Given the description of an element on the screen output the (x, y) to click on. 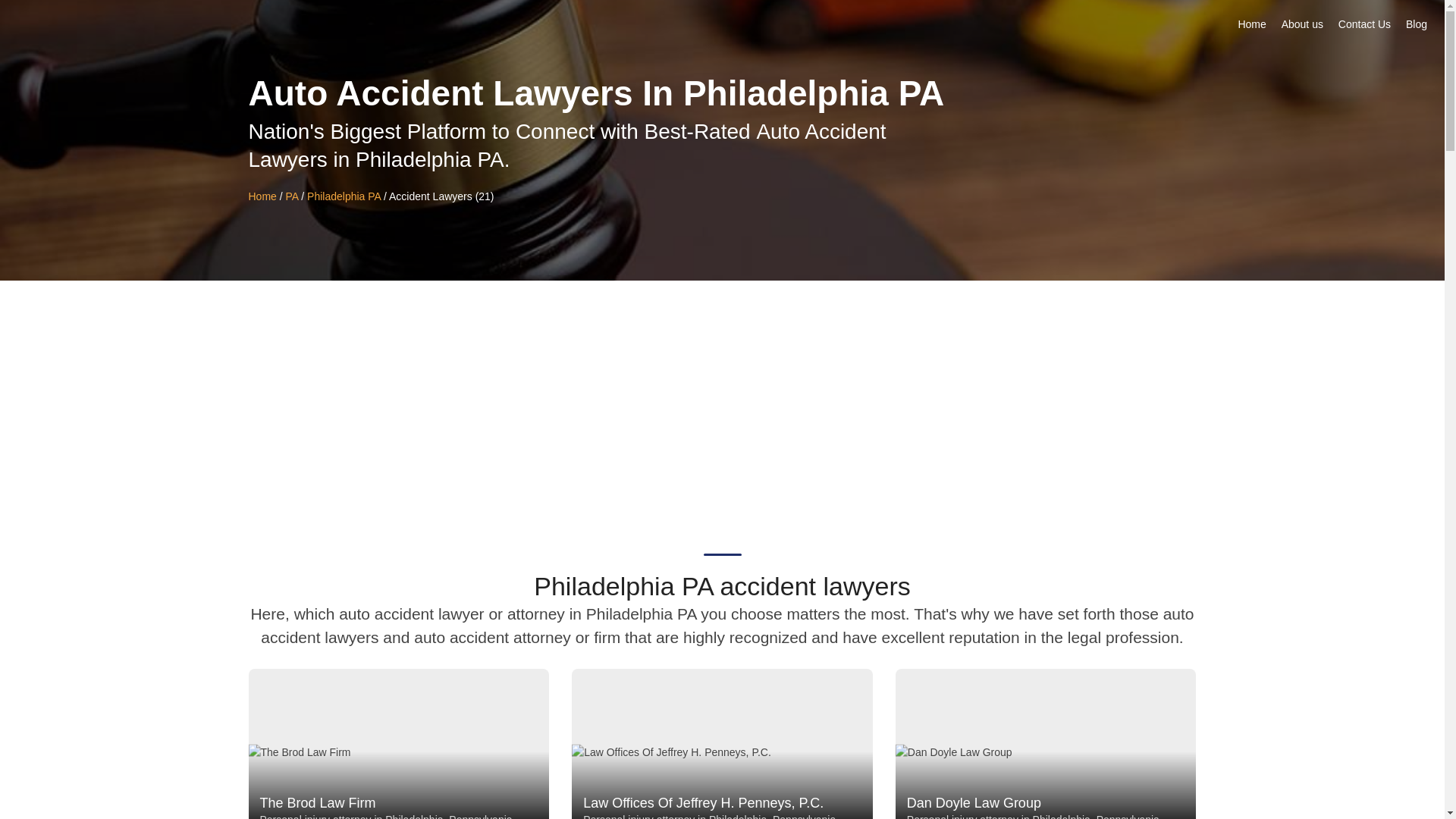
Advertisement Element type: hover (721, 394)
Home Element type: text (1251, 28)
Contact Us Element type: text (1364, 28)
Home Element type: text (262, 196)
Blog Element type: text (1416, 28)
PA Element type: text (291, 196)
Philadelphia PA Element type: text (343, 196)
About us Element type: text (1302, 28)
